Given the description of an element on the screen output the (x, y) to click on. 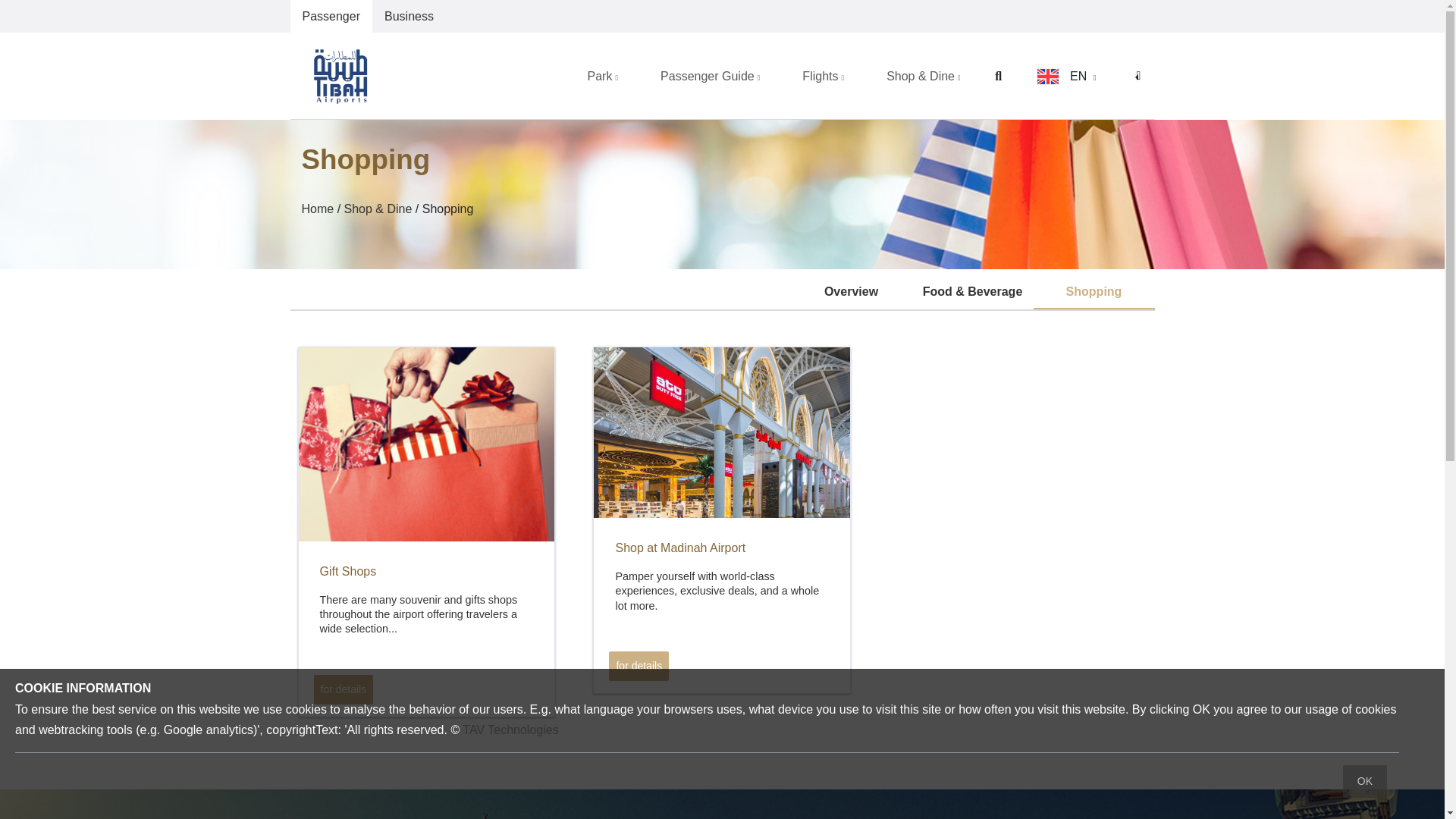
Passenger Guide (709, 74)
Business (408, 16)
EN (1066, 74)
Home (317, 208)
Park (602, 74)
Flights (823, 74)
Passenger (330, 16)
Business (408, 16)
Passenger (330, 16)
